Given the description of an element on the screen output the (x, y) to click on. 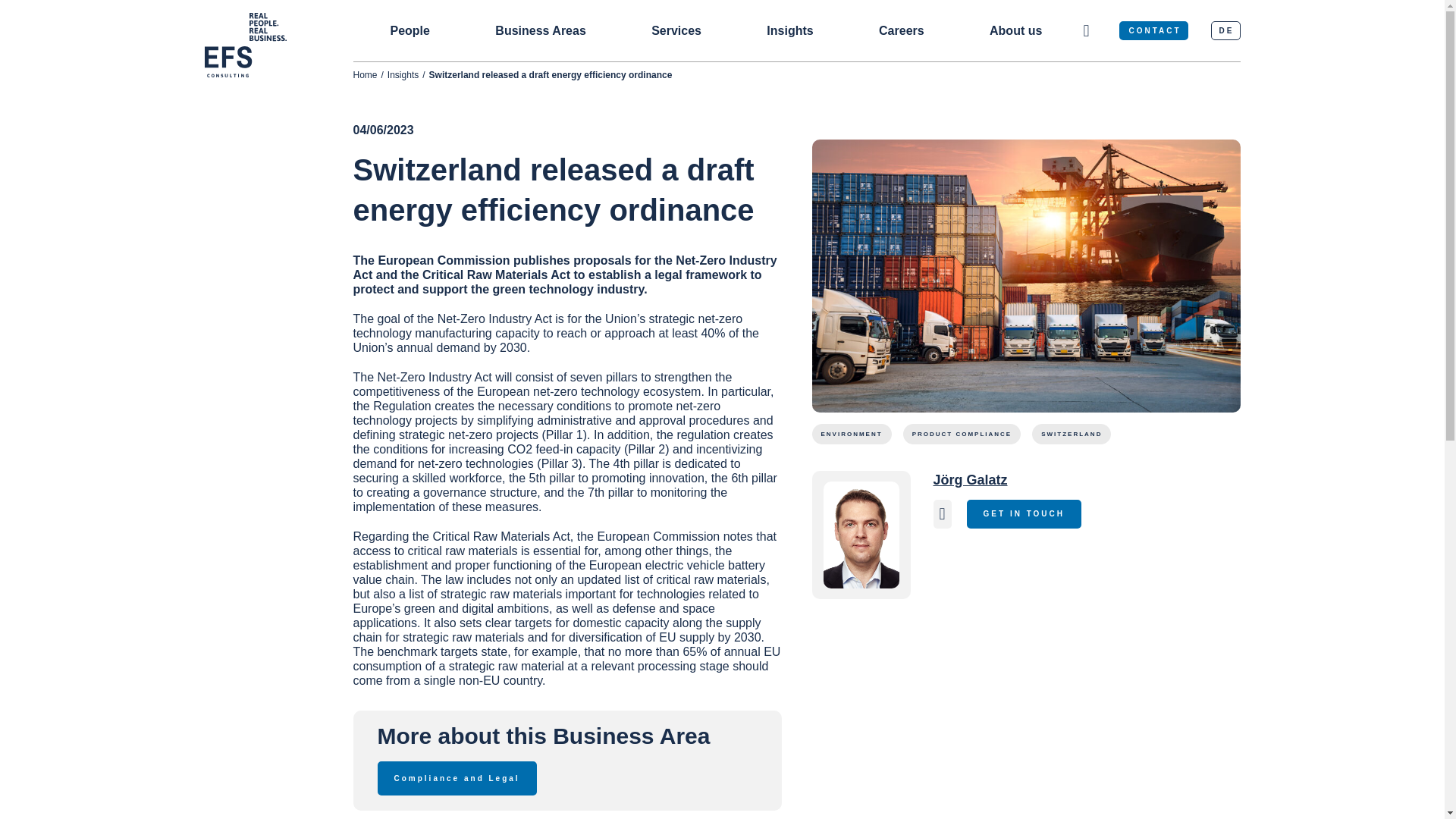
SWITZERLAND (1071, 434)
CONTACT (1153, 30)
Home (365, 74)
Careers (901, 30)
DE (1225, 30)
ENVIRONMENT (850, 434)
PRODUCT COMPLIANCE (962, 434)
Compliance and Legal (457, 778)
About us (1016, 30)
Business Areas (540, 30)
